Given the description of an element on the screen output the (x, y) to click on. 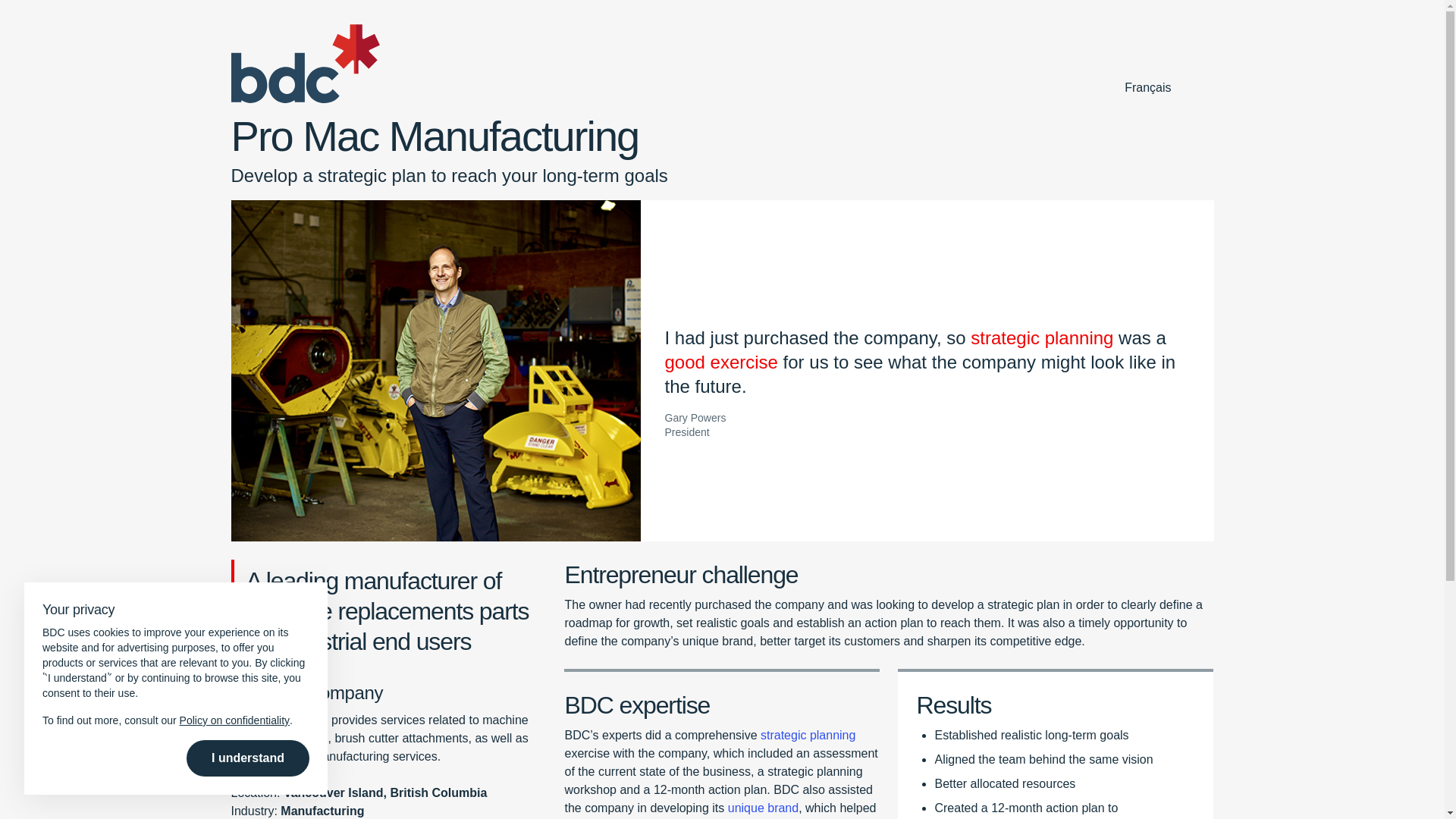
unique brand (762, 807)
strategic planning (808, 735)
I understand (247, 758)
Policy on confidentiality (234, 720)
